Given the description of an element on the screen output the (x, y) to click on. 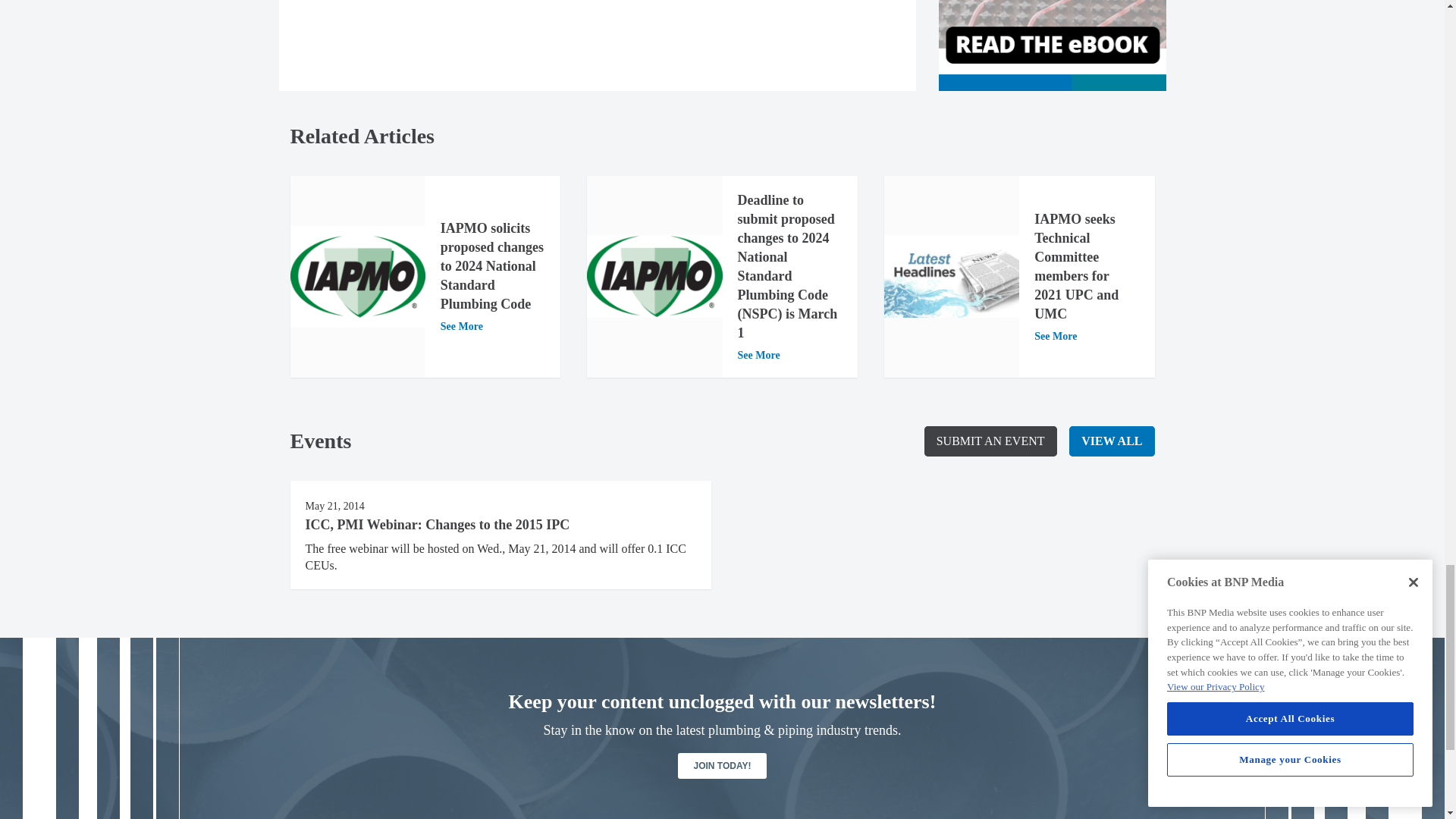
IAPMO-Logo.gif (357, 276)
IAPMO (654, 276)
Headlines (951, 276)
